Given the description of an element on the screen output the (x, y) to click on. 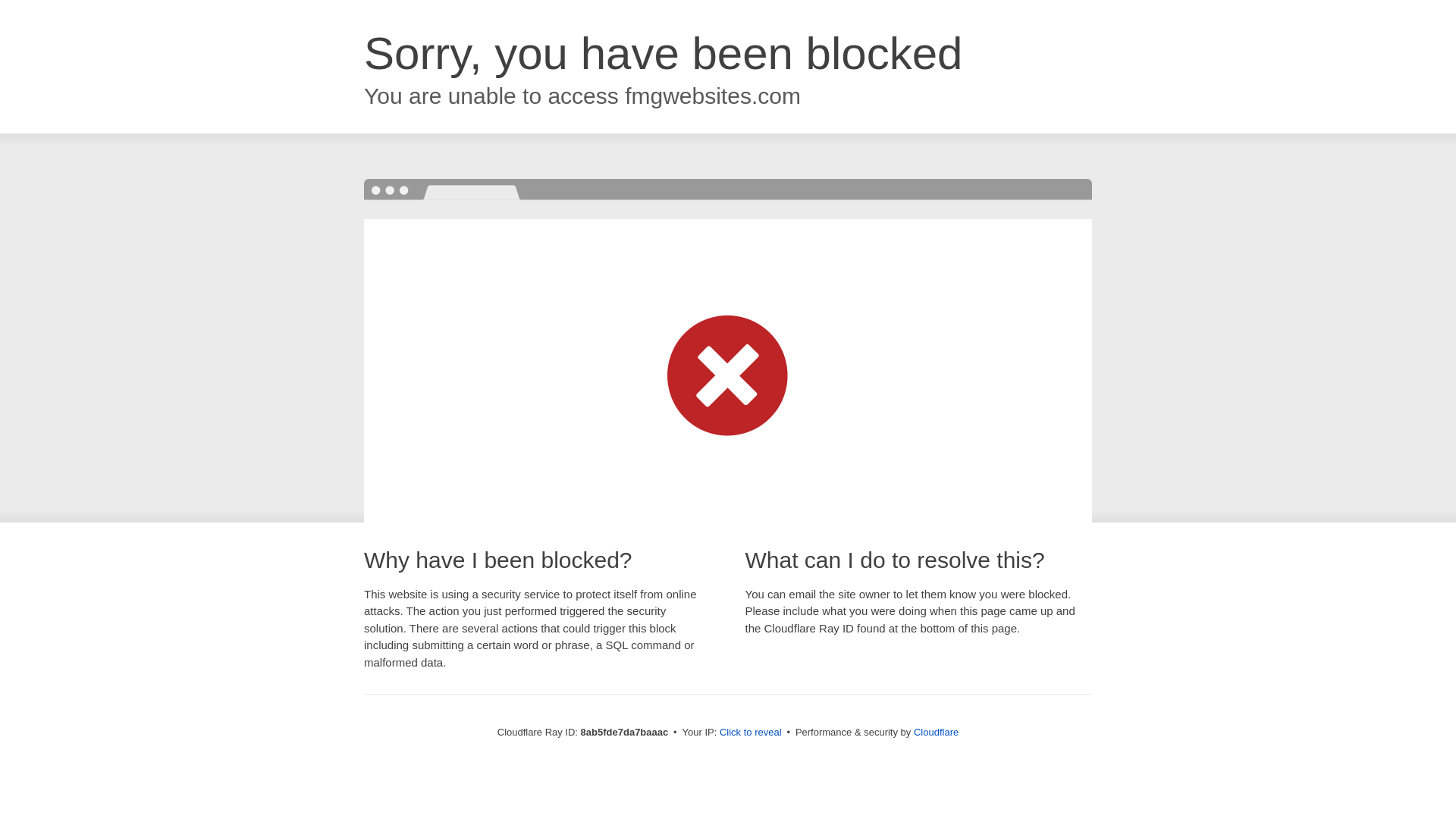
Cloudflare (936, 731)
Click to reveal (750, 732)
